Given the description of an element on the screen output the (x, y) to click on. 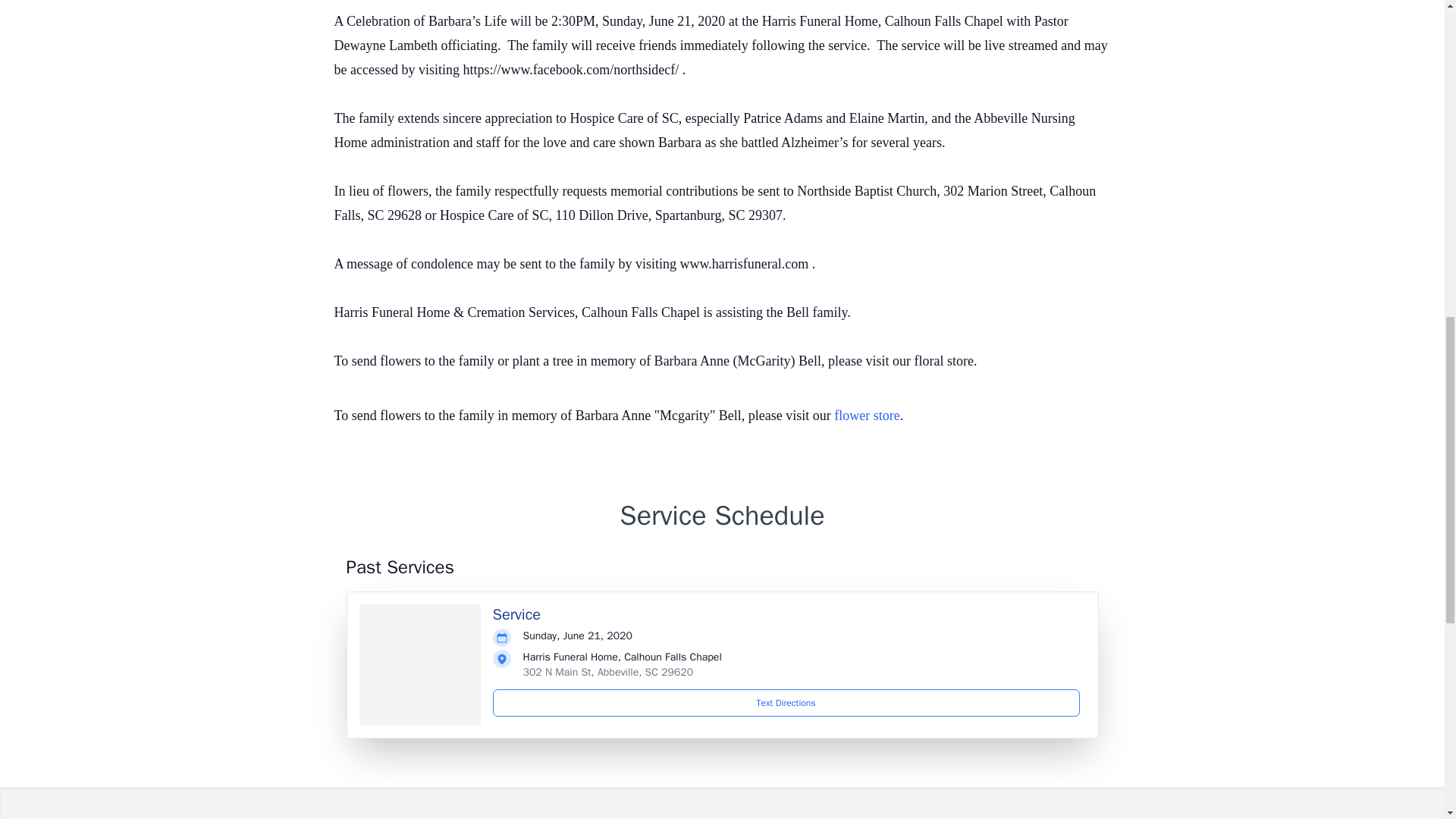
flower store (866, 415)
302 N Main St, Abbeville, SC 29620 (608, 671)
Text Directions (786, 702)
